Given the description of an element on the screen output the (x, y) to click on. 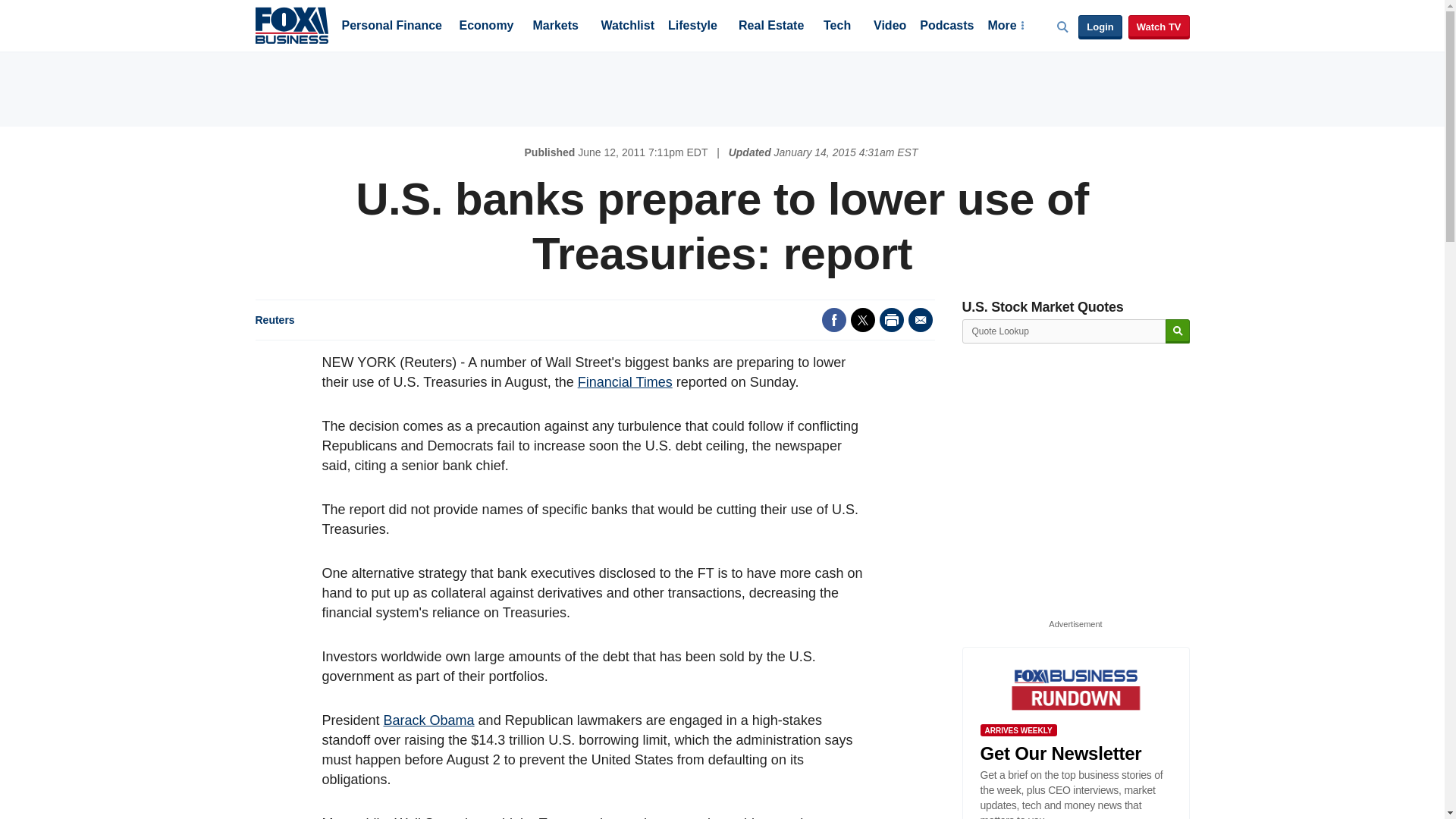
Personal Finance (391, 27)
Tech (837, 27)
Economy (486, 27)
Watchlist (626, 27)
More (1005, 27)
Watch TV (1158, 27)
Login (1099, 27)
Video (889, 27)
Search (1176, 331)
Podcasts (947, 27)
